Given the description of an element on the screen output the (x, y) to click on. 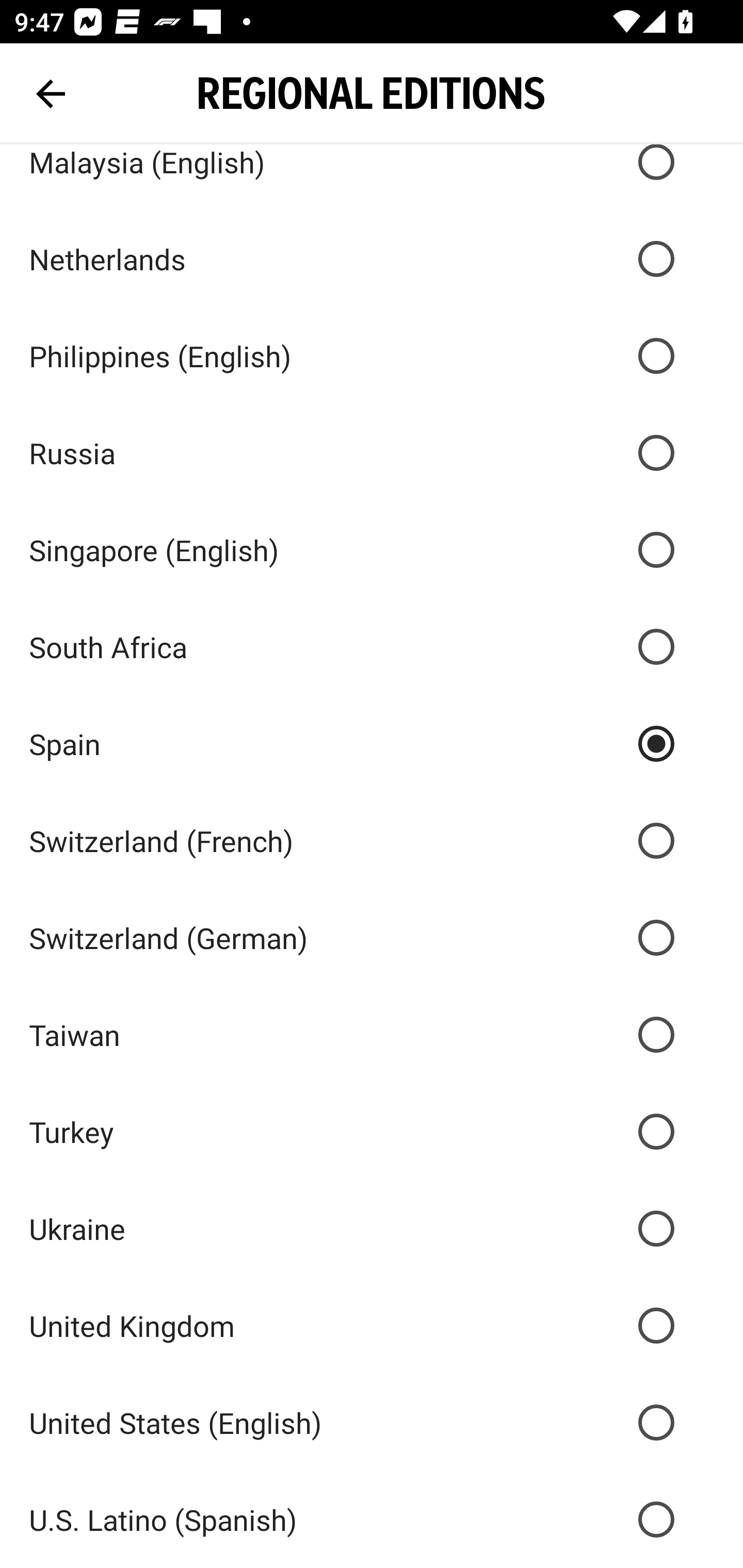
Back (50, 93)
Malaysia (English) (371, 177)
Netherlands (371, 258)
Philippines (English) (371, 355)
Russia (371, 452)
Singapore (English) (371, 549)
South Africa (371, 646)
Spain (371, 742)
Switzerland (French) (371, 840)
Switzerland (German) (371, 937)
Taiwan (371, 1034)
Turkey (371, 1131)
Ukraine (371, 1228)
United Kingdom (371, 1324)
United States (English) (371, 1421)
U.S. Latino (Spanish) (371, 1519)
